Given the description of an element on the screen output the (x, y) to click on. 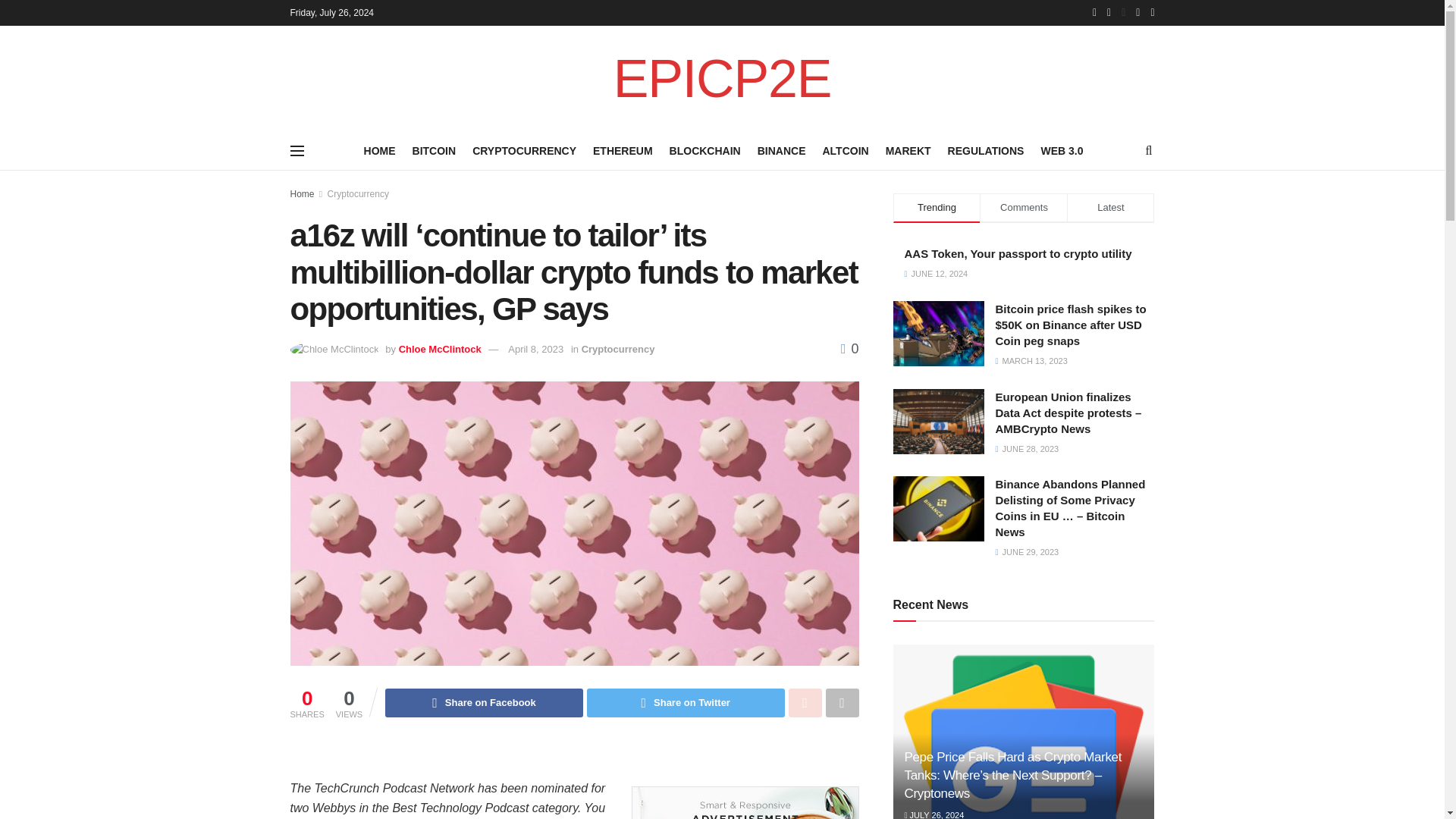
Cryptocurrency (357, 194)
Chloe McClintock (439, 348)
Home (301, 194)
BLOCKCHAIN (705, 150)
WEB 3.0 (1062, 150)
BINANCE (781, 150)
Share on Facebook (484, 702)
Cryptocurrency (617, 348)
REGULATIONS (986, 150)
April 8, 2023 (535, 348)
HOME (380, 150)
EPICP2E (721, 78)
0 (850, 348)
Share on Twitter (685, 702)
MAREKT (908, 150)
